Given the description of an element on the screen output the (x, y) to click on. 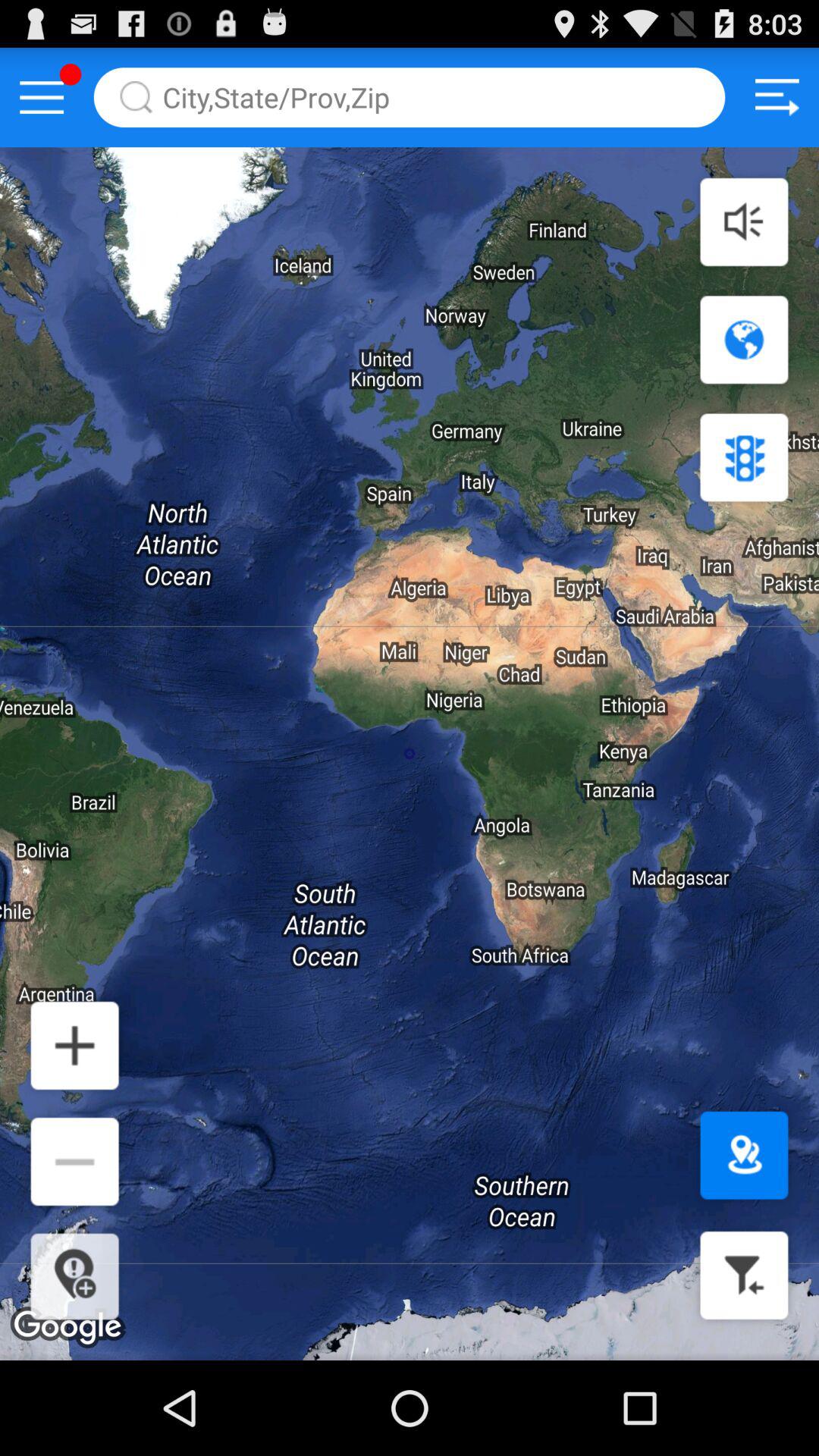
click on he traffic lights signal icon at the right side of the page (744, 457)
click on the menu icon at the top right corner (777, 97)
click on the  icon at the left bottom of the page (74, 1045)
icon shown above location icon at the bottom left corner (74, 1160)
icon shown below location icon at the bottom right corner (744, 1275)
the last icon from top present at the bottom right corner (74, 1276)
